Given the description of an element on the screen output the (x, y) to click on. 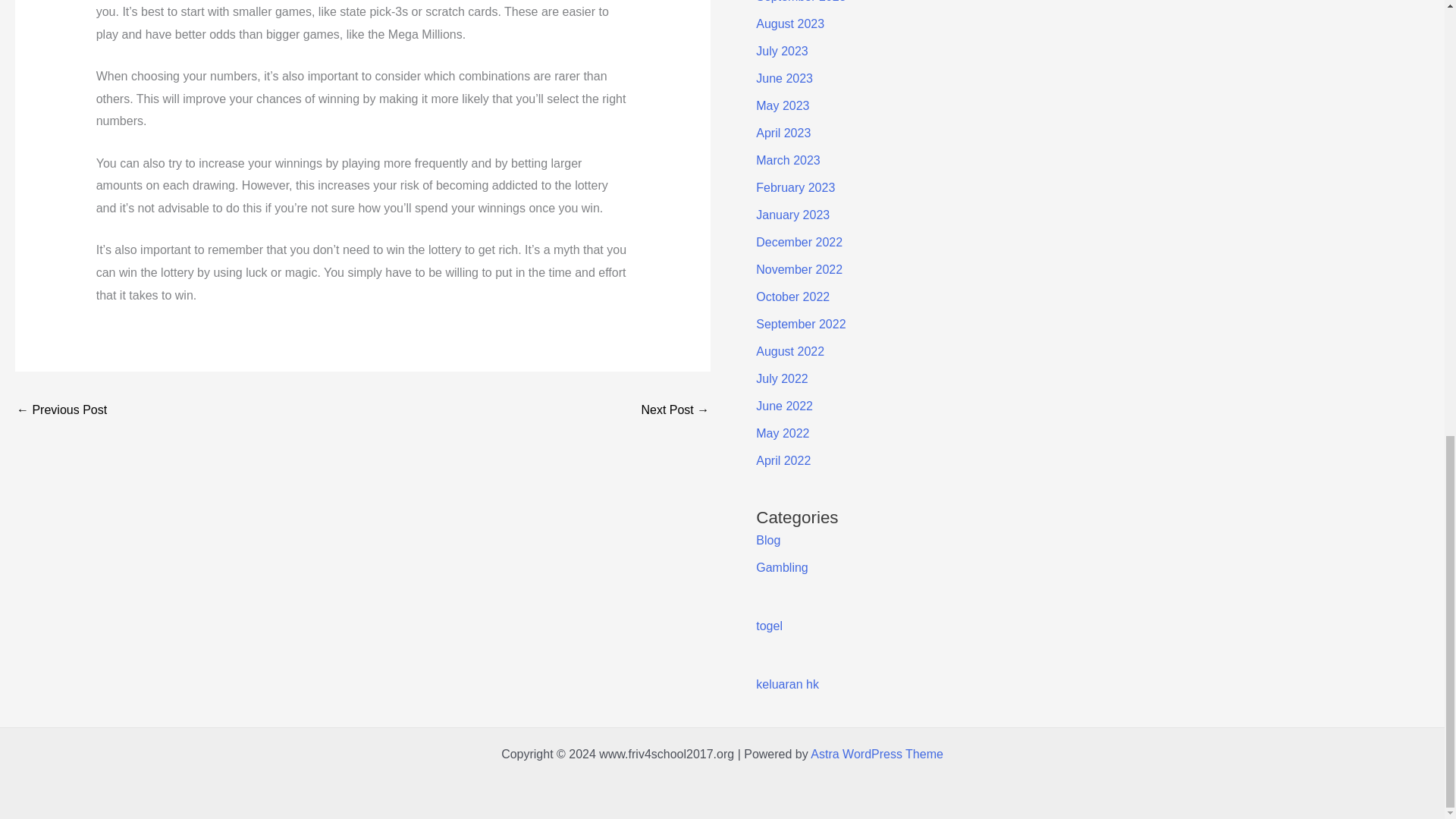
April 2023 (782, 132)
July 2023 (781, 51)
Sports Betting 101 (674, 411)
September 2023 (800, 1)
November 2022 (799, 269)
February 2023 (794, 187)
June 2023 (783, 78)
January 2023 (792, 214)
May 2023 (782, 105)
October 2022 (792, 296)
March 2023 (788, 160)
What Is Law New? (61, 411)
December 2022 (799, 241)
August 2023 (789, 23)
